Given the description of an element on the screen output the (x, y) to click on. 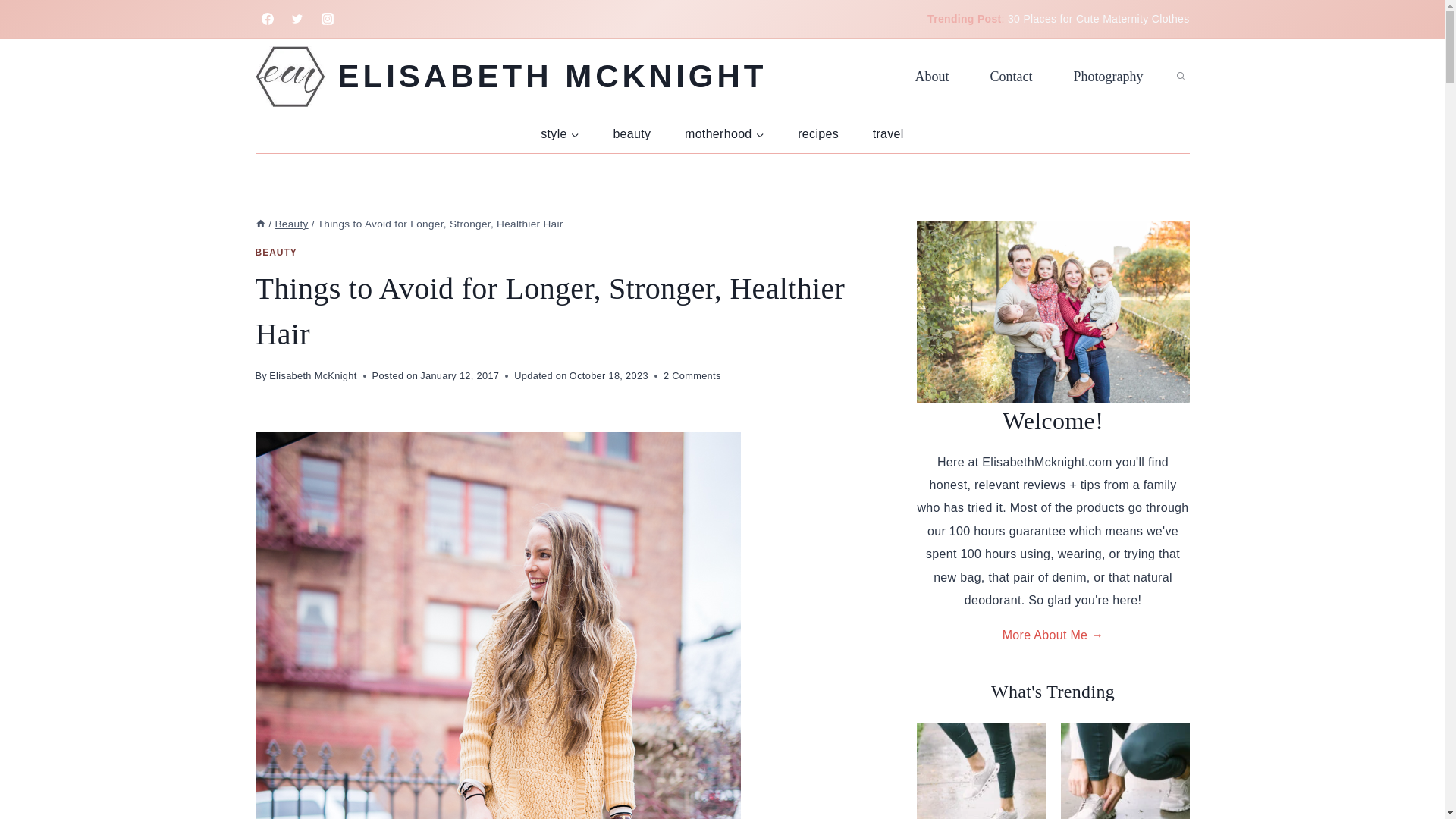
Contact (1010, 76)
BEAUTY (275, 252)
Photography (1107, 76)
2 Comments (691, 375)
beauty (631, 134)
travel (888, 134)
style (559, 134)
Elisabeth McKnight (312, 375)
2 Comments (691, 375)
recipes (818, 134)
About (932, 76)
motherhood (724, 134)
Beauty (291, 224)
ELISABETH MCKNIGHT (510, 75)
Home (259, 224)
